Given the description of an element on the screen output the (x, y) to click on. 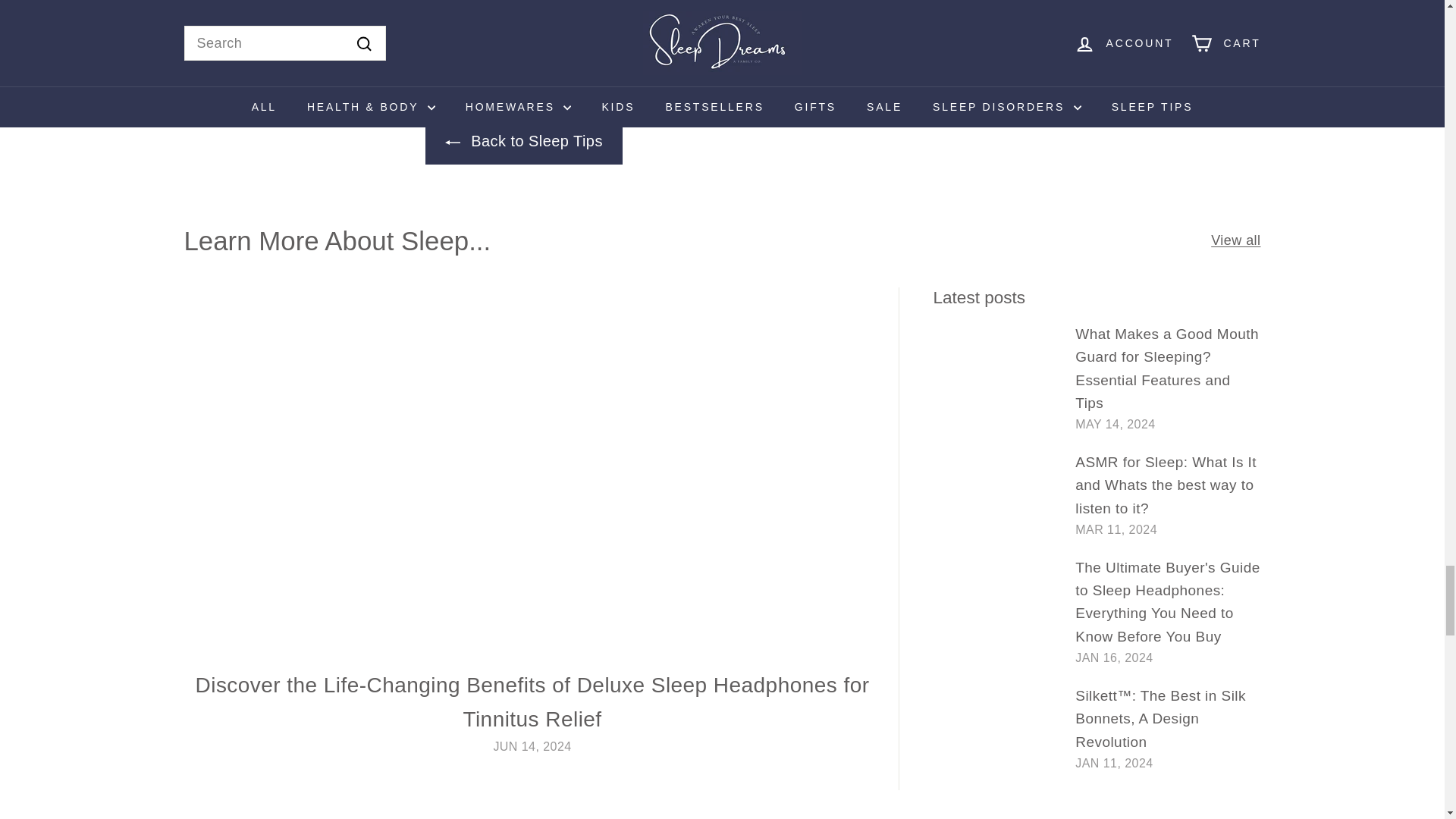
icon-left-arrow (452, 142)
